Given the description of an element on the screen output the (x, y) to click on. 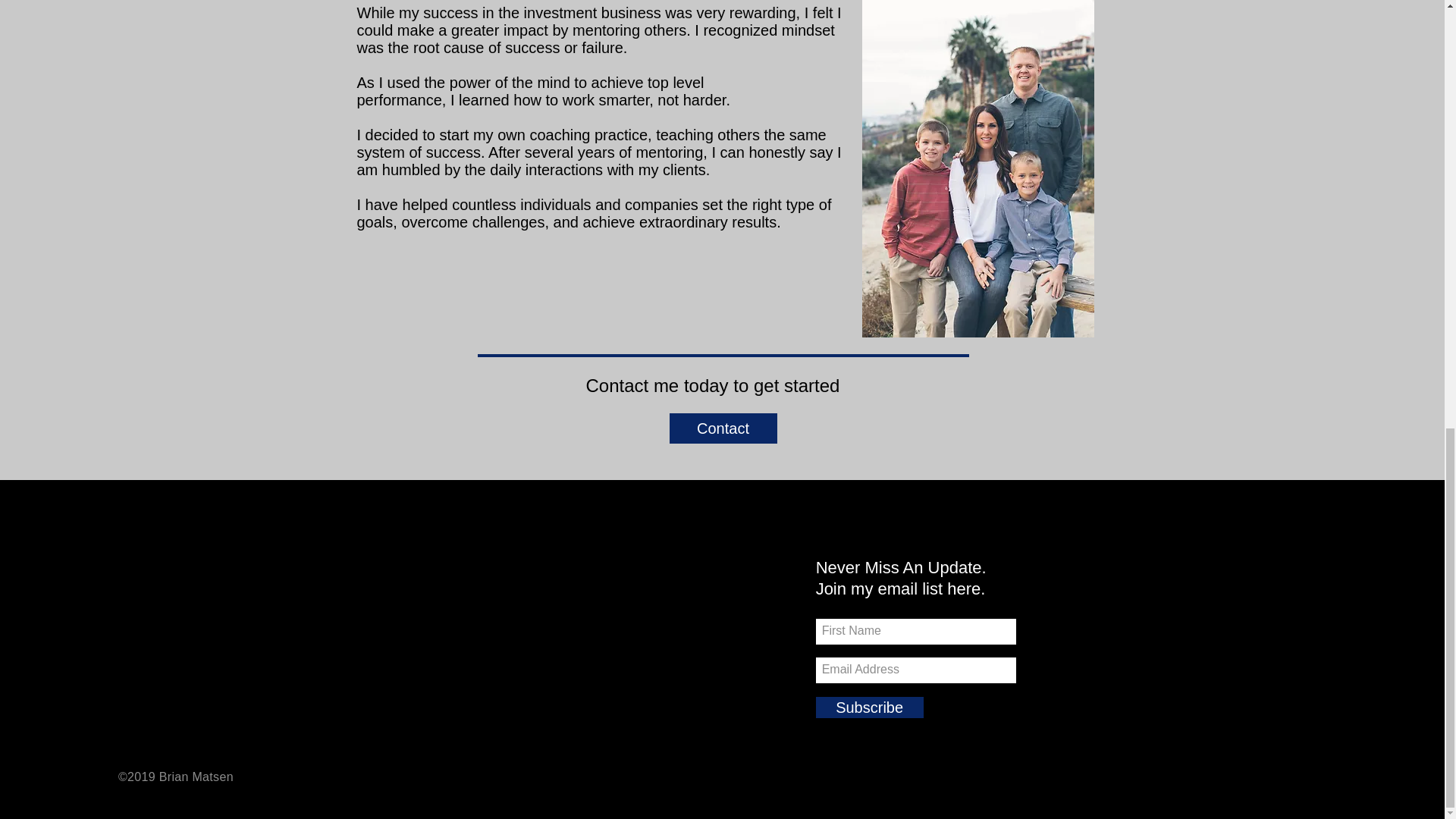
Contact (722, 428)
